Given the description of an element on the screen output the (x, y) to click on. 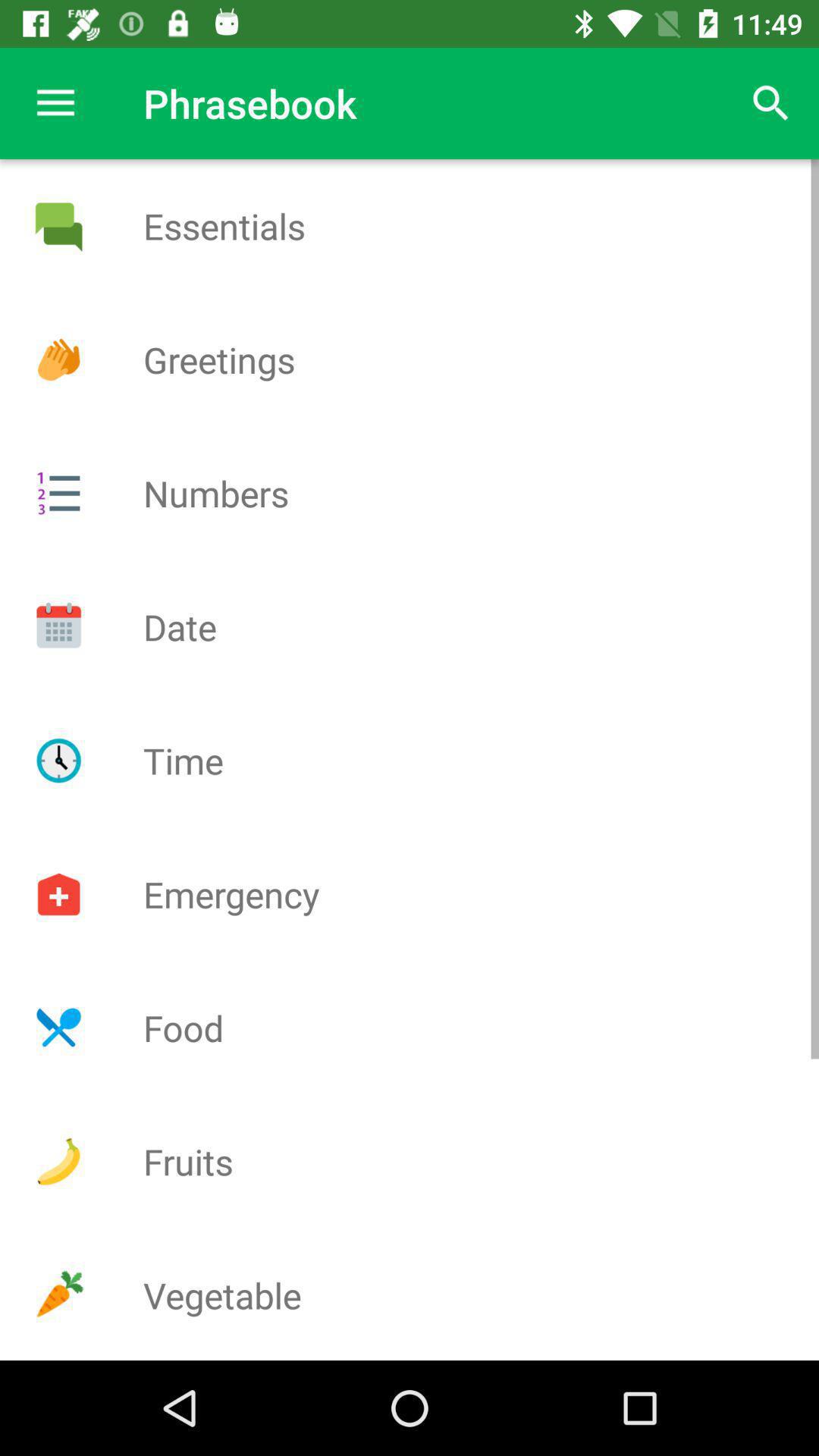
see phrases for greetings (58, 359)
